Given the description of an element on the screen output the (x, y) to click on. 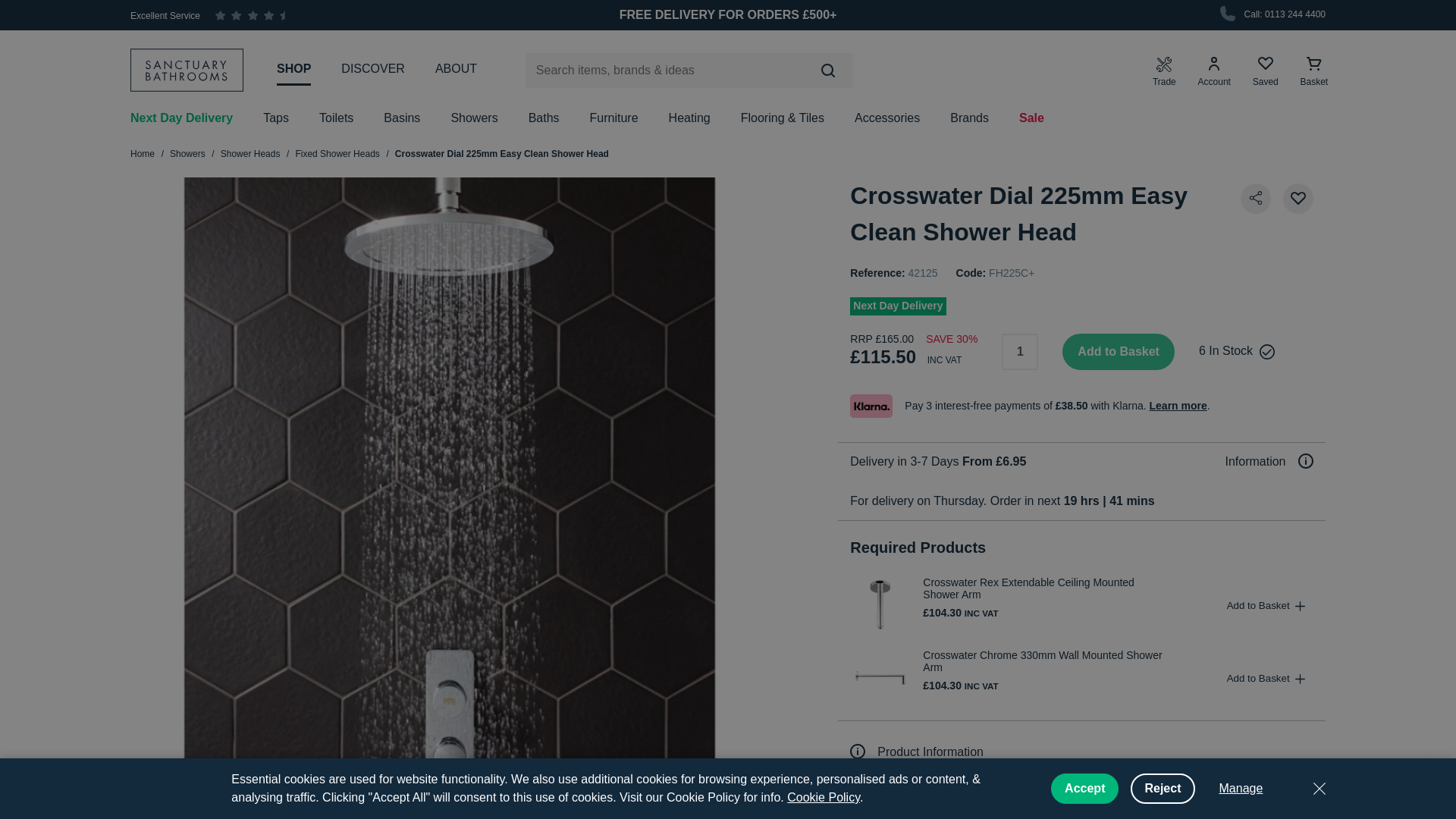
Taps (275, 118)
Saved Items (1265, 71)
DISCOVER (372, 68)
Product Information (917, 751)
Account (1214, 71)
Saved (1265, 71)
SHOP (293, 69)
Basket (1314, 71)
Toilets (335, 118)
Remove from wishlist (1297, 198)
